Given the description of an element on the screen output the (x, y) to click on. 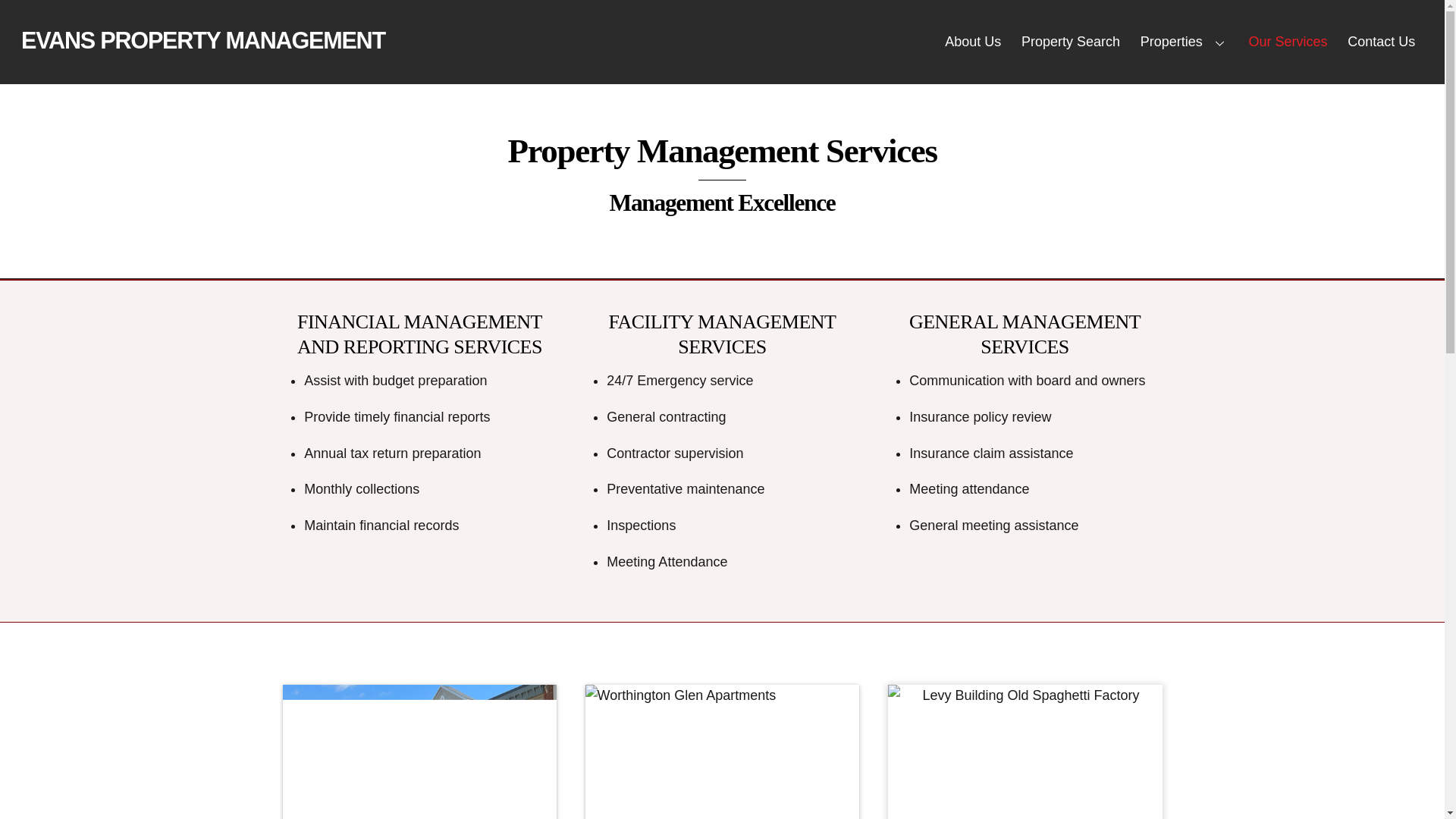
Our Services (1288, 41)
Contact Us (1381, 41)
Chamberlain Pointe store fronts (419, 751)
EVANS PROPERTY MANAGEMENT (203, 40)
Property Search (1070, 41)
Worthington Glen Apartments (722, 41)
Levy Building Old Spaghetti Factory (722, 751)
Properties (1024, 751)
EVANS PROPERTY MANAGEMENT (1184, 41)
About Us (203, 40)
